Given the description of an element on the screen output the (x, y) to click on. 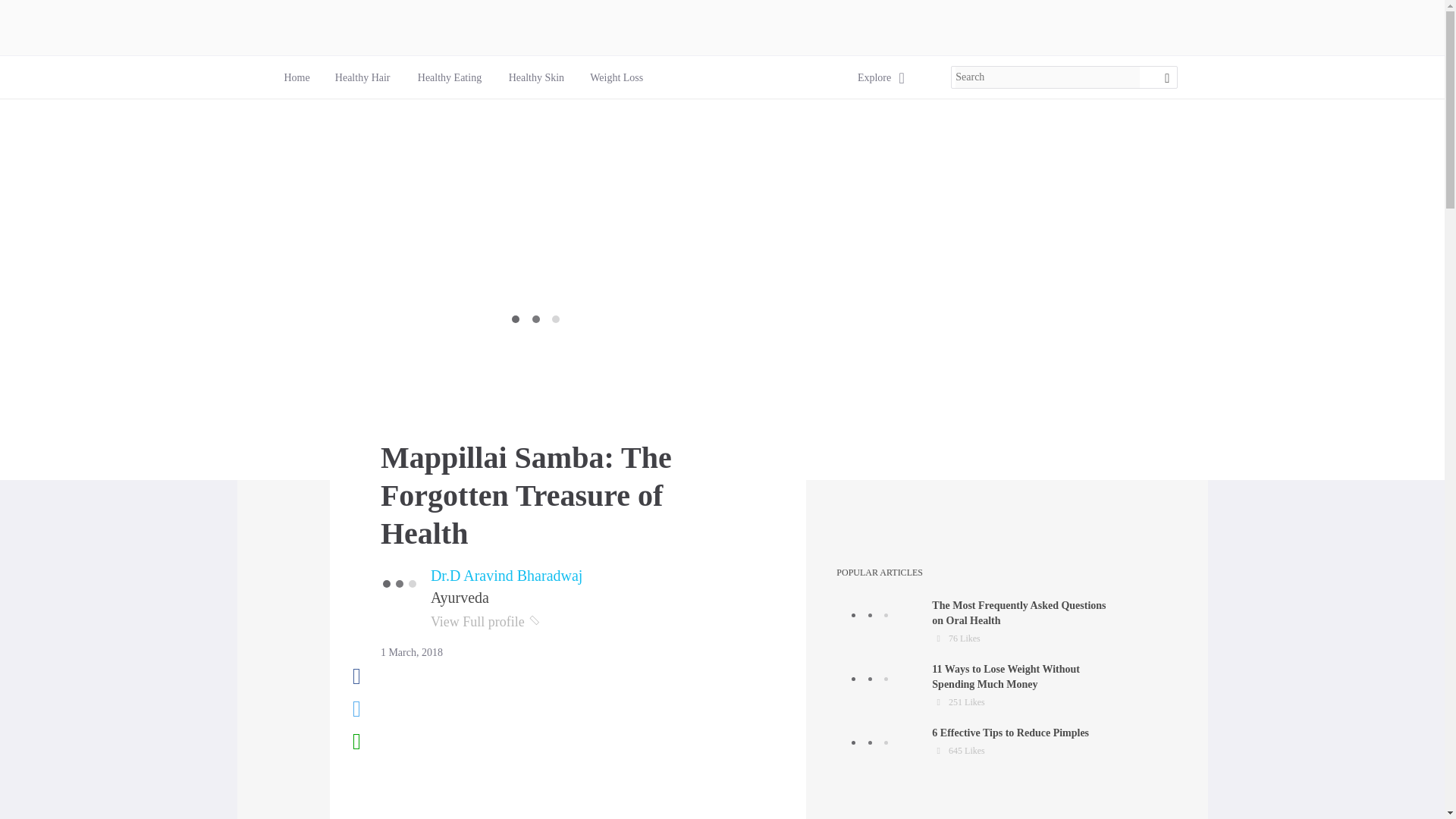
Healthy Eating (449, 77)
Dr.D Aravind Bharadwaj (977, 622)
Explore (506, 575)
Home (874, 77)
Weight Loss (295, 77)
Healthy Skin (616, 77)
Healthy Eating (535, 77)
Healthy Hair (450, 77)
